Given the description of an element on the screen output the (x, y) to click on. 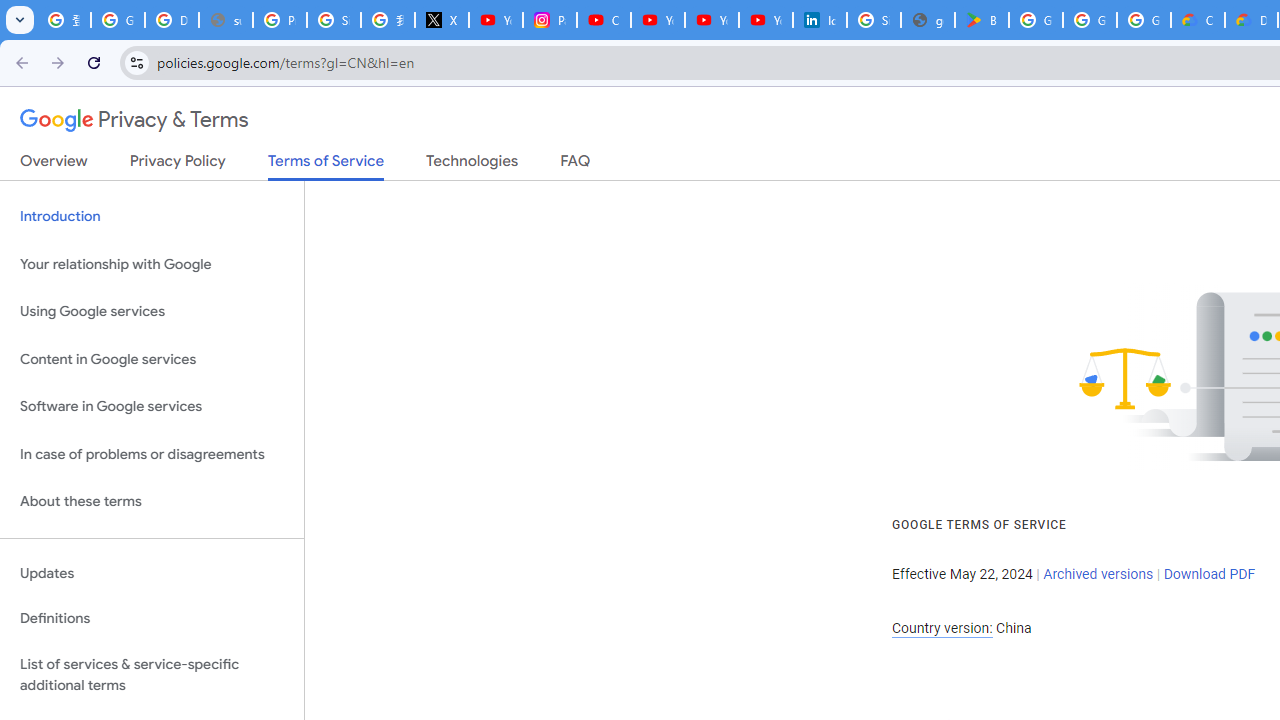
Archived versions (1098, 574)
